Given the description of an element on the screen output the (x, y) to click on. 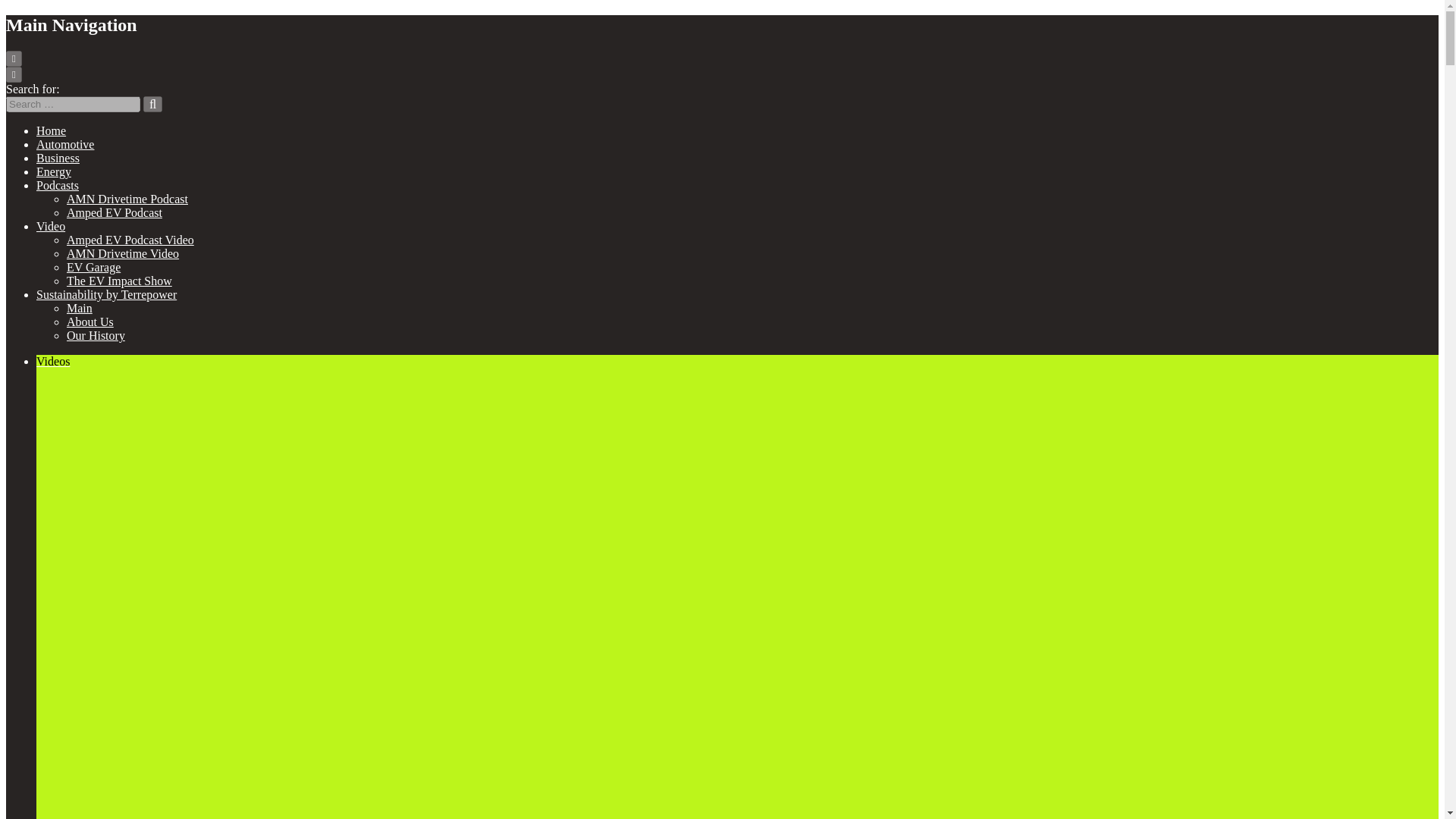
Video (50, 226)
Main (79, 308)
AMN Drivetime Podcast (126, 198)
Automotive (65, 144)
Our History (95, 335)
Home (50, 130)
EV Garage (93, 267)
Home (50, 130)
Energy (53, 171)
Podcasts (57, 185)
Business (58, 157)
Automotive (65, 144)
The EV Impact Show (118, 280)
Business (58, 157)
